Given the description of an element on the screen output the (x, y) to click on. 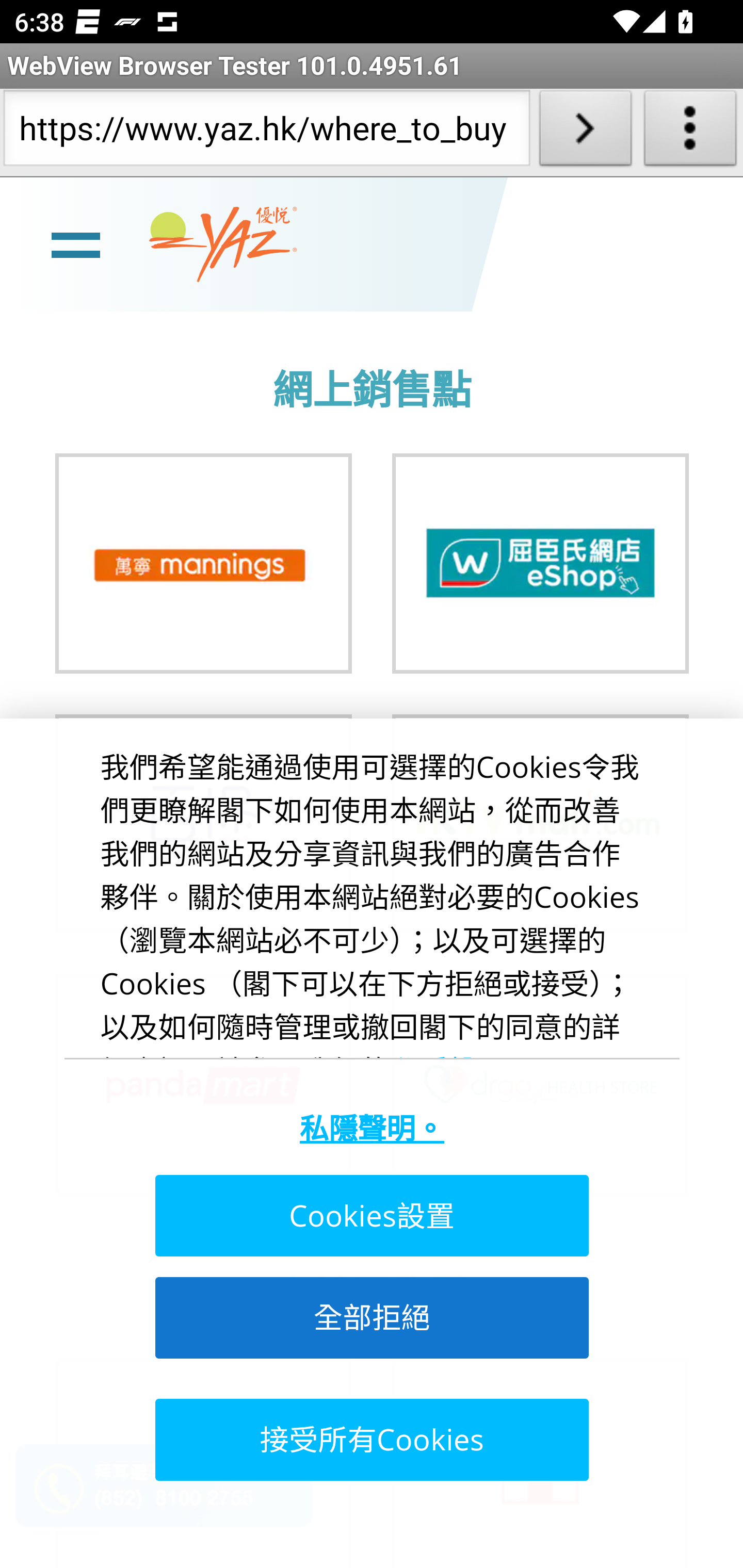
https://www.yaz.hk/where_to_buy (266, 132)
Load URL (585, 132)
About WebView (690, 132)
www.yaz (222, 244)
line Toggle burger menu (75, 242)
867879 (202, 563)
BP_204260 (540, 563)
Cookies設置 (370, 1215)
全部拒絕 (370, 1317)
接受所有Cookies (370, 1439)
